Given the description of an element on the screen output the (x, y) to click on. 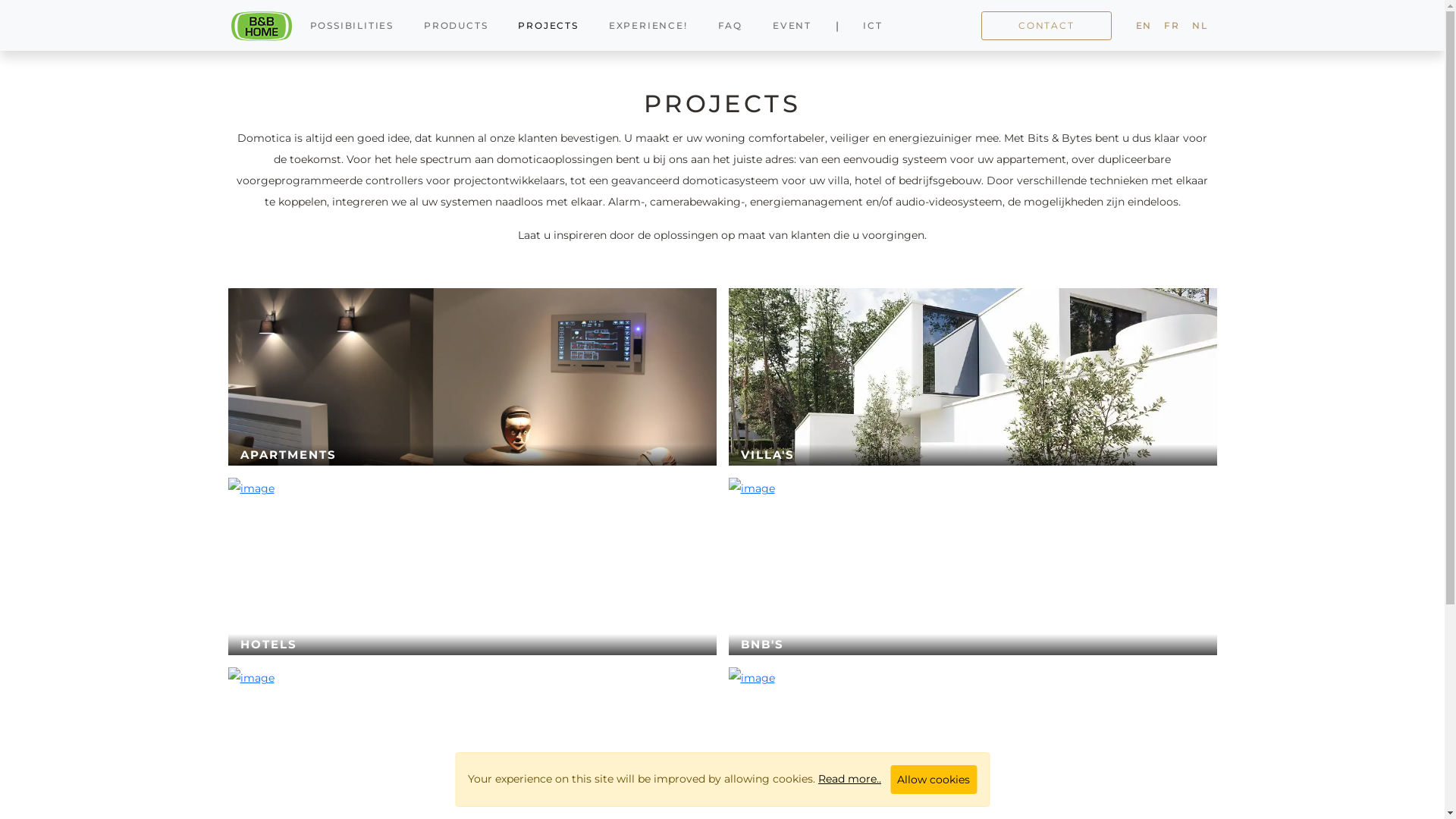
HOTELS Element type: text (471, 566)
ICT Element type: text (872, 25)
PRODUCTS Element type: text (455, 25)
CONTACT Element type: text (1046, 25)
Read more.. Element type: text (849, 778)
POSSIBILITIES Element type: text (350, 25)
PROJECTS Element type: text (547, 25)
FR Element type: text (1171, 25)
Allow cookies Element type: text (933, 779)
BNB'S Element type: text (972, 566)
FAQ Element type: text (730, 25)
EXPERIENCE! Element type: text (647, 25)
NL Element type: text (1200, 25)
EN Element type: text (1143, 25)
EVENT Element type: text (791, 25)
APARTMENTS Element type: text (471, 376)
VILLA'S Element type: text (972, 376)
